Given the description of an element on the screen output the (x, y) to click on. 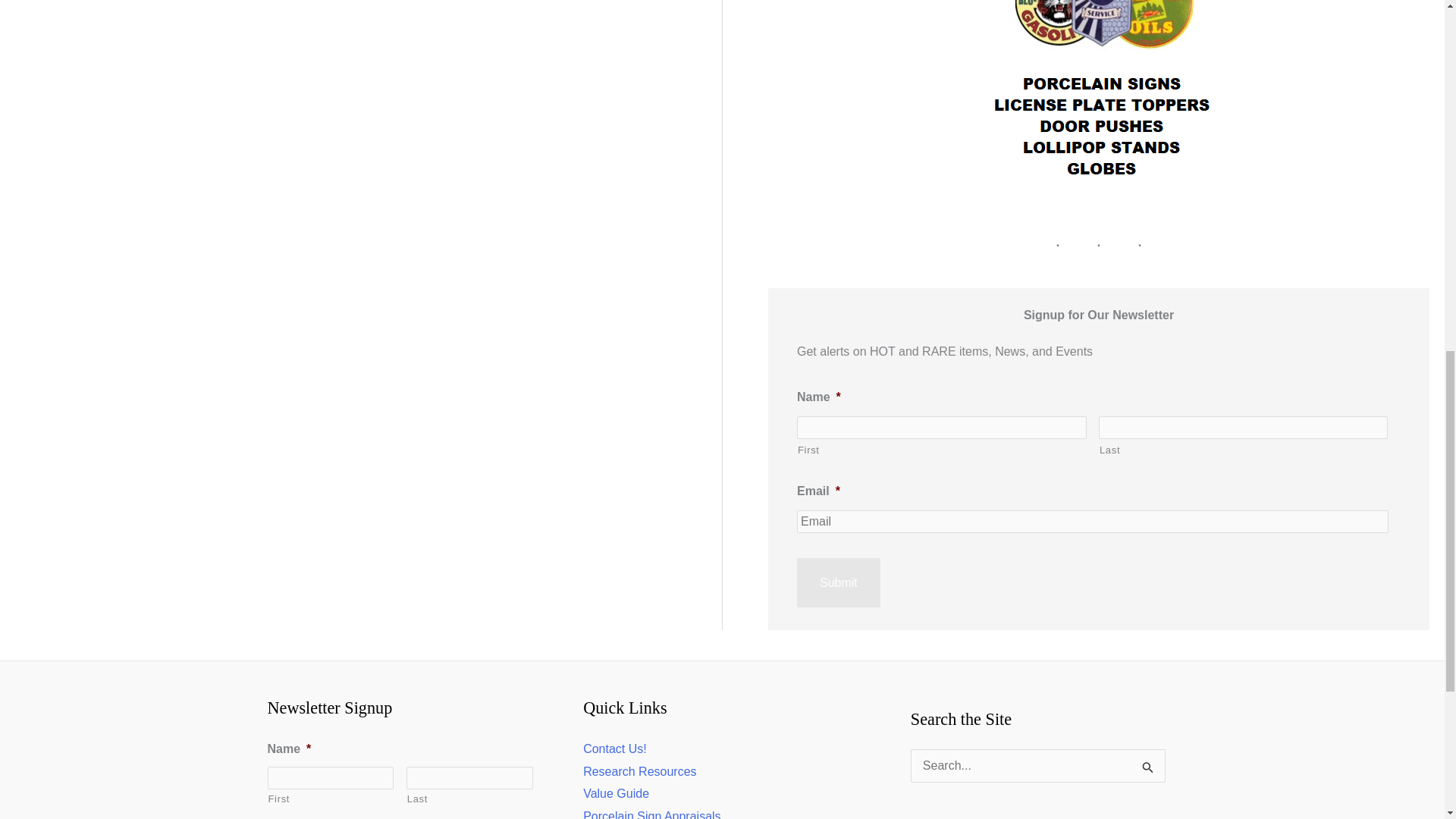
Submit (838, 582)
